Given the description of an element on the screen output the (x, y) to click on. 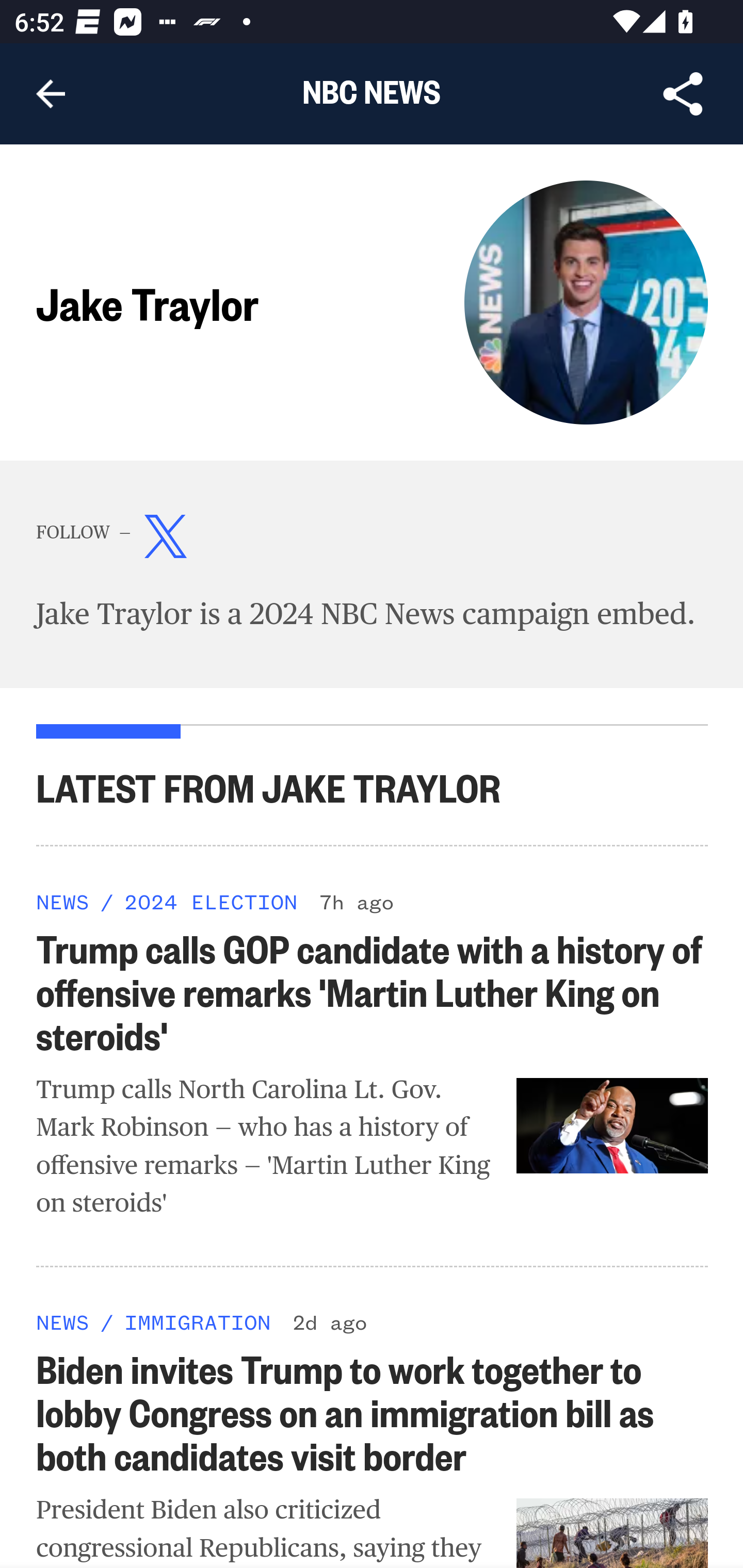
Navigate up (50, 93)
Share Article, button (683, 94)
 (165, 540)
NEWS NEWS NEWS (63, 900)
2024 ELECTION 2024 ELECTION 2024 ELECTION (209, 900)
NEWS NEWS NEWS (63, 1321)
IMMIGRATION IMMIGRATION IMMIGRATION (196, 1321)
